Given the description of an element on the screen output the (x, y) to click on. 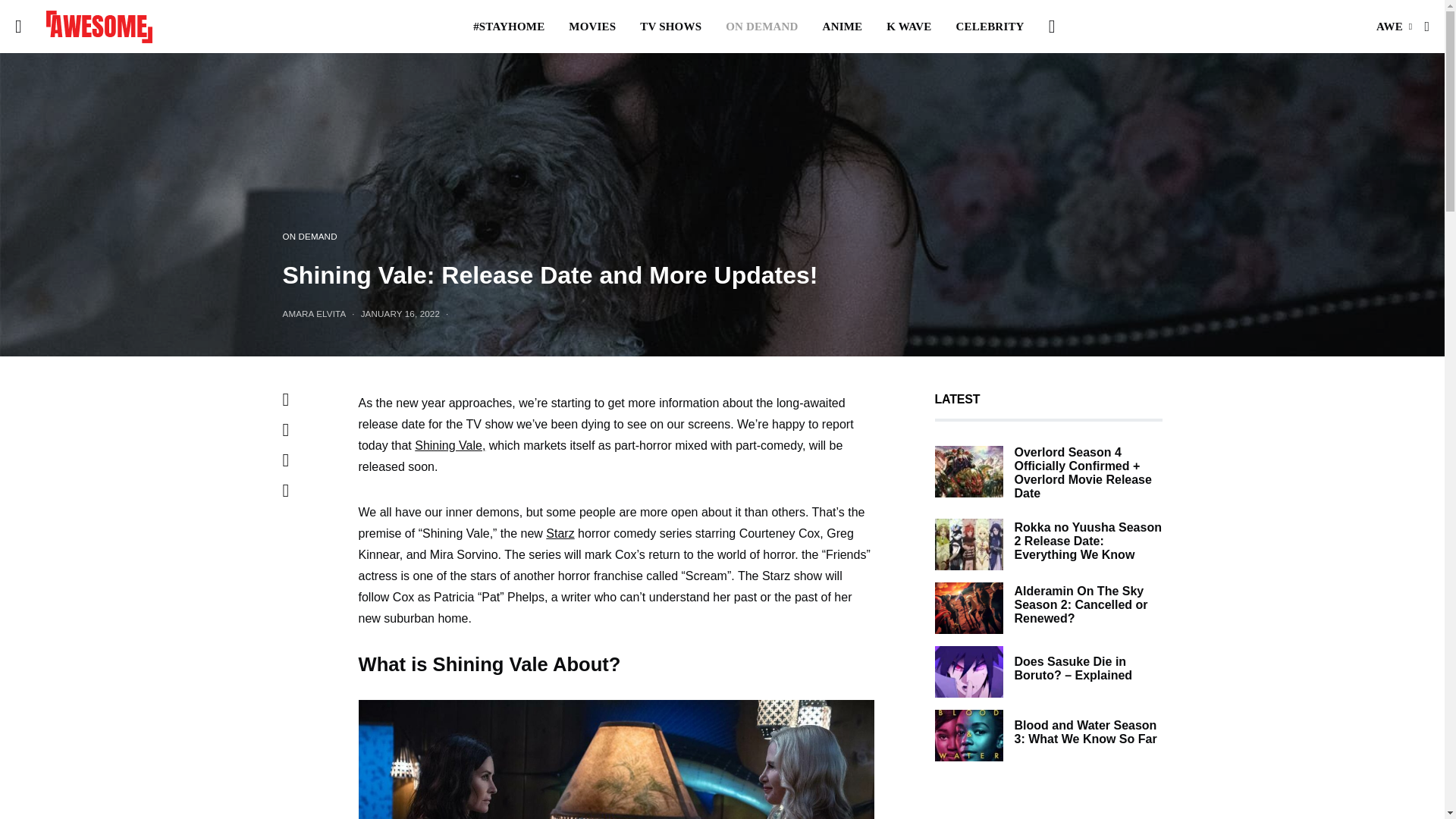
TV SHOWS (670, 26)
Shining Vale: Release Date and More Updates! (615, 759)
CELEBRITY (990, 26)
View all posts by Amara Elvita (314, 313)
ON DEMAND (761, 26)
